Given the description of an element on the screen output the (x, y) to click on. 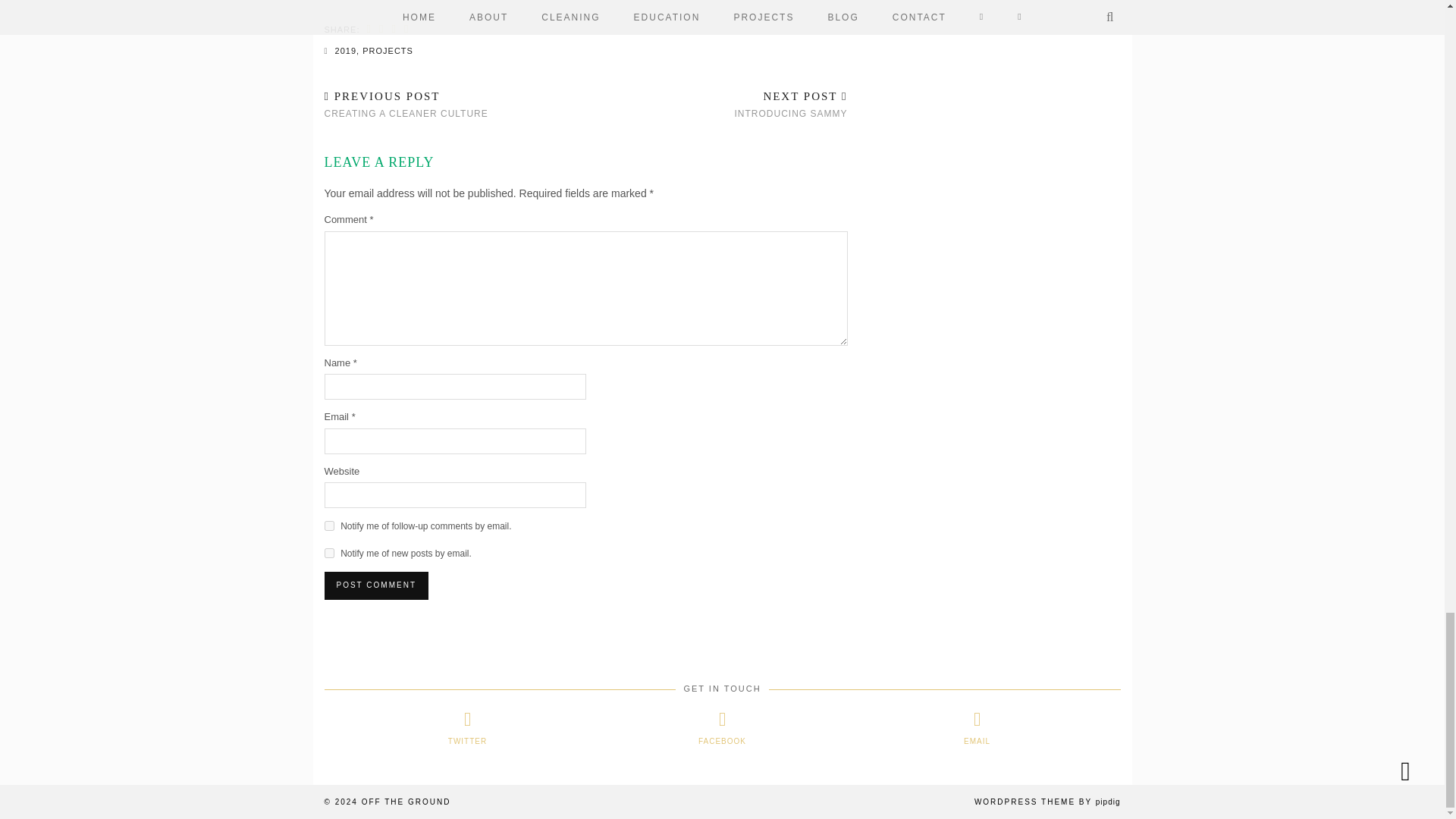
subscribe (329, 525)
subscribe (329, 552)
Post Comment (376, 584)
